Given the description of an element on the screen output the (x, y) to click on. 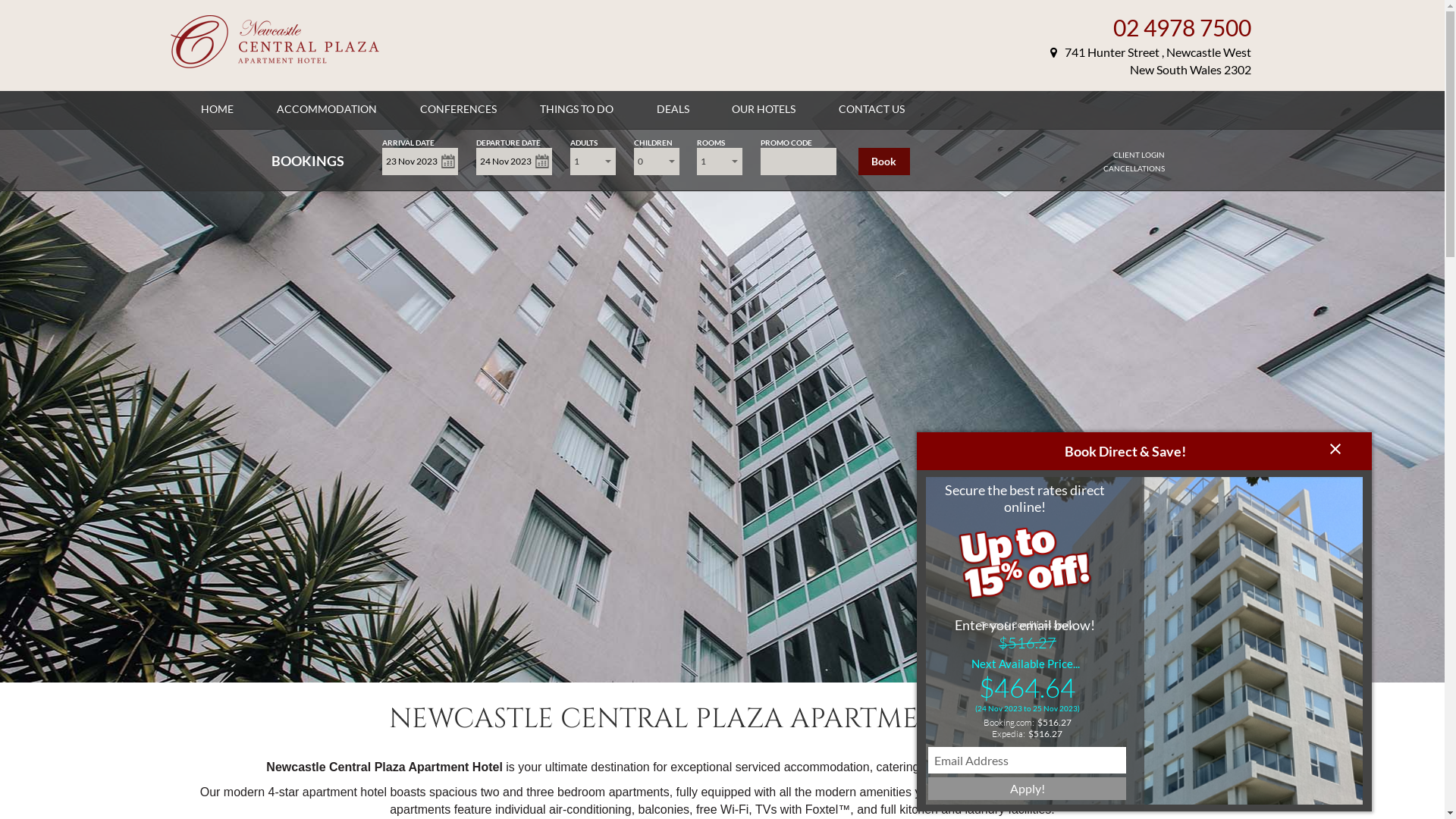
CANCELLATIONS Element type: text (1133, 167)
Apply! Element type: text (1027, 788)
741 Hunter Street , Newcastle West
New South Wales 2302 Element type: text (1150, 60)
Book Element type: text (884, 161)
02 4978 7500 Element type: text (1182, 26)
ACCOMMODATION Element type: text (326, 109)
THINGS TO DO Element type: text (576, 109)
DEALS Element type: text (672, 109)
CLIENT LOGIN Element type: text (1138, 154)
Terms & Conditions apply. Element type: text (1026, 624)
CONFERENCES Element type: text (458, 109)
CONTACT US Element type: text (871, 109)
OUR HOTELS Element type: text (763, 109)
HOME Element type: text (216, 109)
